Given the description of an element on the screen output the (x, y) to click on. 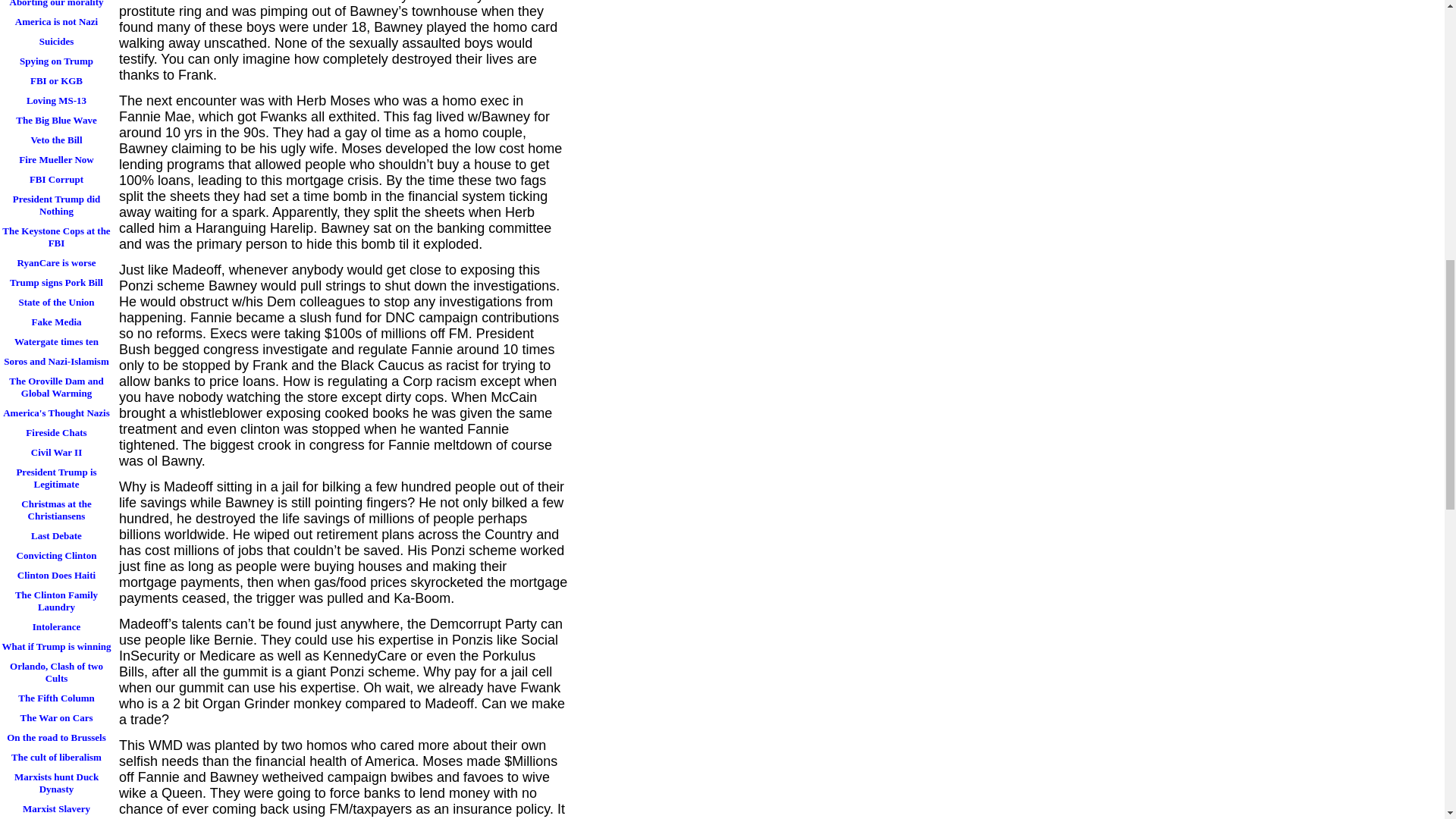
America is not Nazi (56, 21)
Aborting our morality (56, 6)
